Given the description of an element on the screen output the (x, y) to click on. 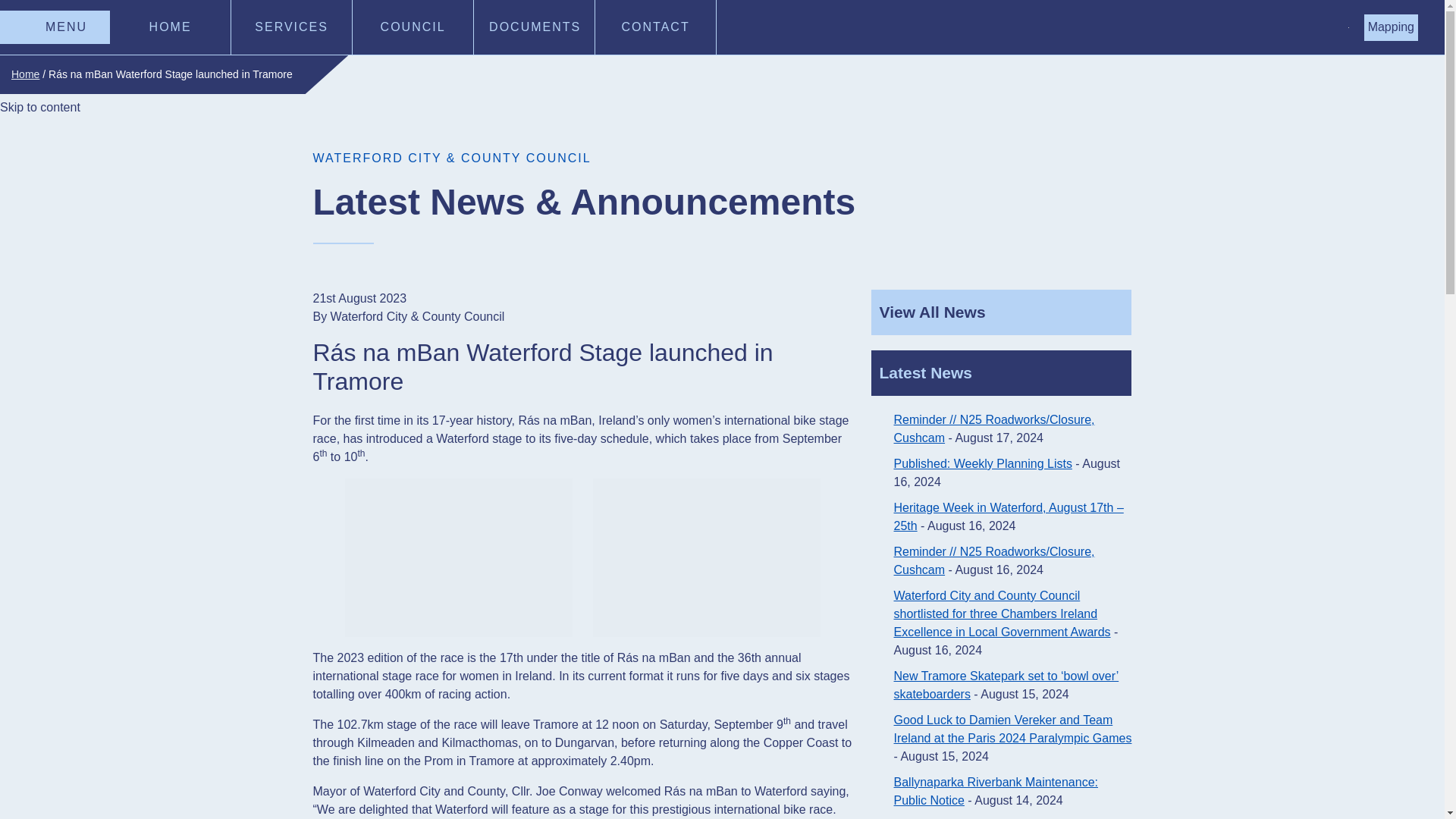
Published: Weekly Planning Lists (982, 463)
COUNCIL (413, 27)
DOCUMENTS (534, 27)
Skip to content (40, 107)
HOME (170, 27)
Ballynaparka Riverbank Maintenance: Public Notice (995, 790)
SERVICES (291, 27)
CONTACT (655, 27)
